Given the description of an element on the screen output the (x, y) to click on. 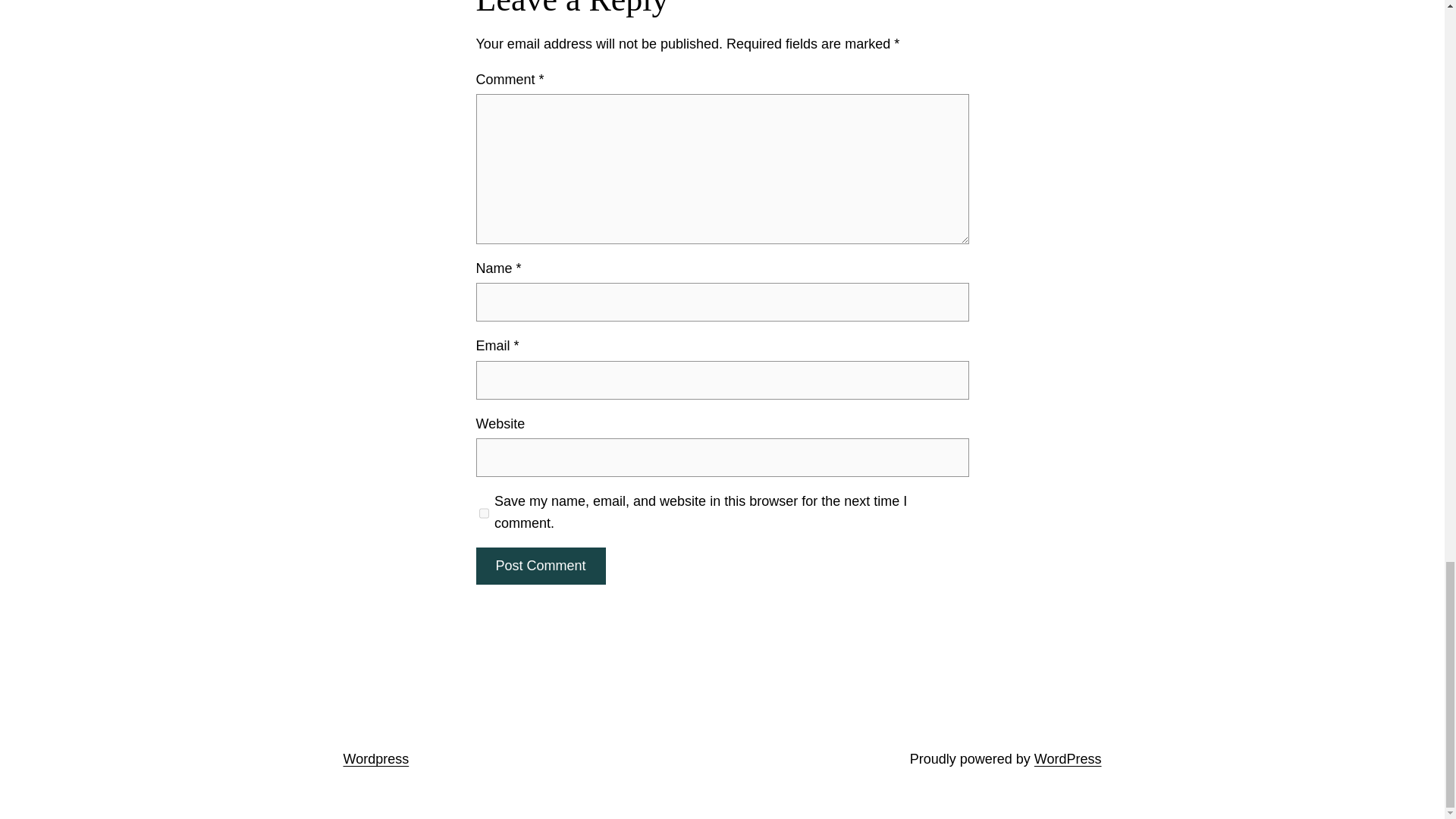
Wordpress (375, 758)
Post Comment (540, 565)
Post Comment (540, 565)
WordPress (1067, 758)
